Given the description of an element on the screen output the (x, y) to click on. 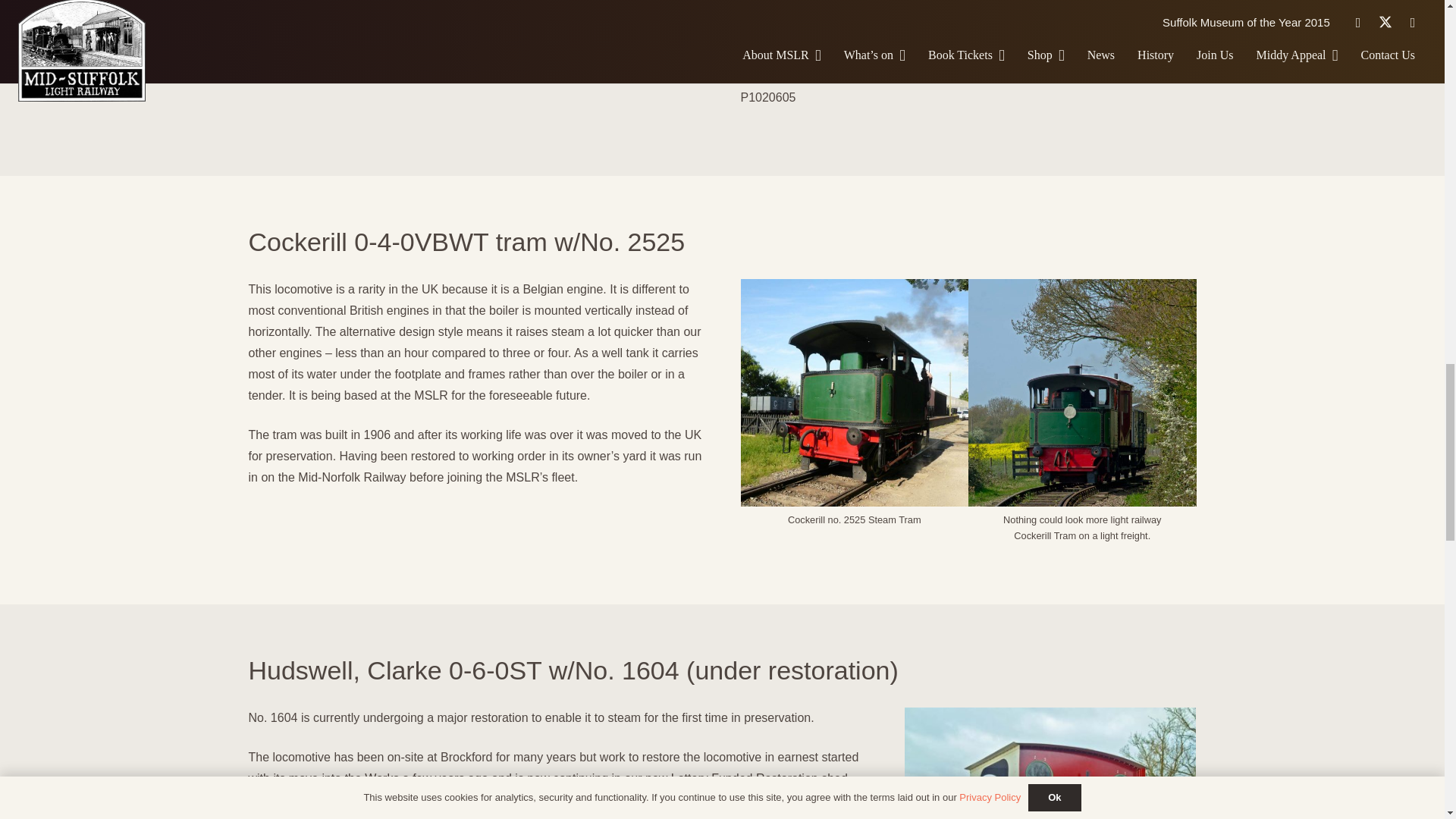
1604 posed at Brockford platform (1050, 763)
